Given the description of an element on the screen output the (x, y) to click on. 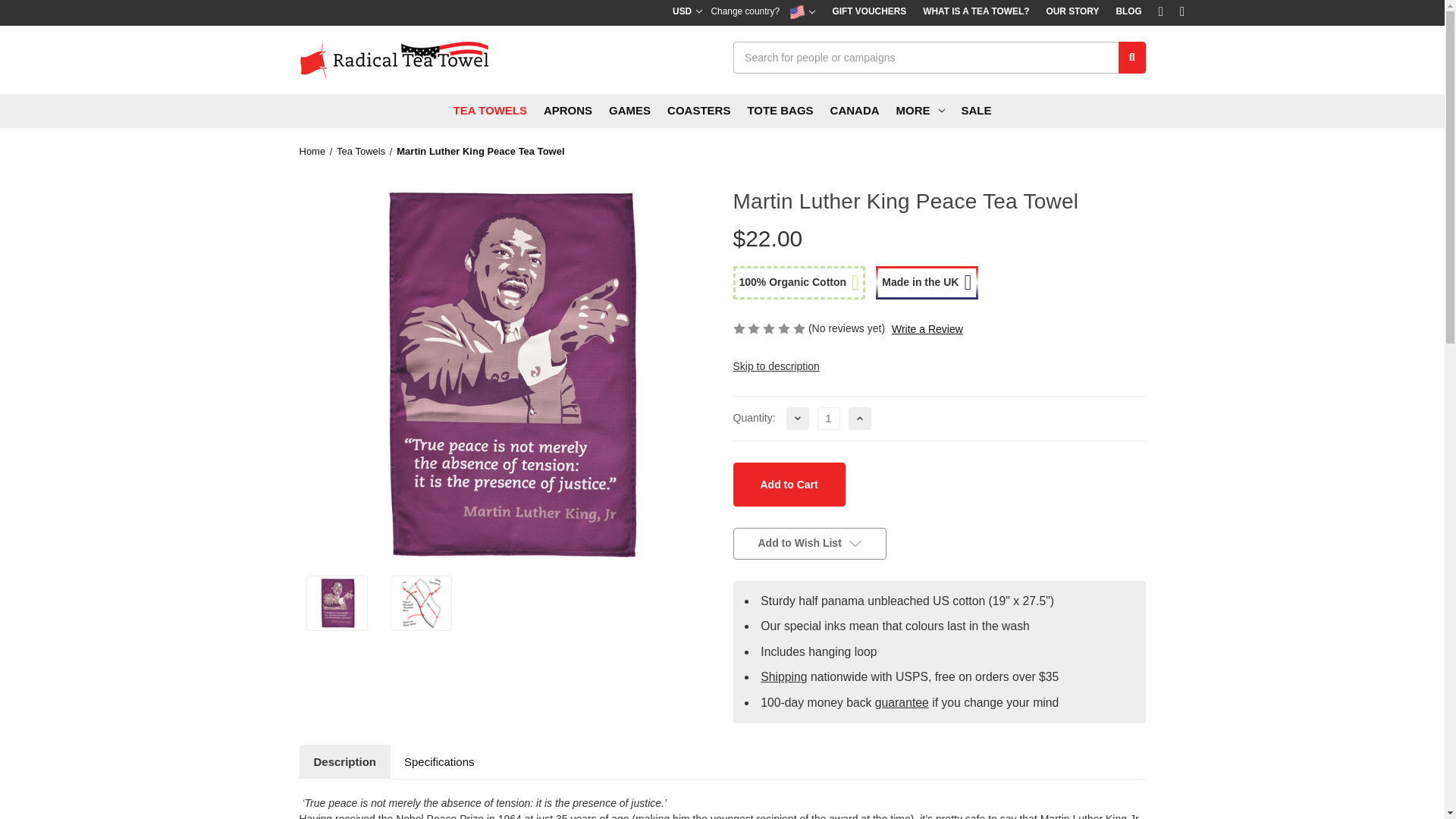
GIFT VOUCHERS (869, 12)
Country Website (802, 12)
Add to Cart (788, 484)
TOTE BAGS (779, 110)
GAMES (629, 110)
1 (828, 418)
USD (686, 12)
SALE (976, 110)
OUR STORY (1071, 12)
CANADA (855, 110)
BLOG (1128, 12)
WHAT IS A TEA TOWEL? (975, 12)
COASTERS (698, 110)
APRONS (567, 110)
